Given the description of an element on the screen output the (x, y) to click on. 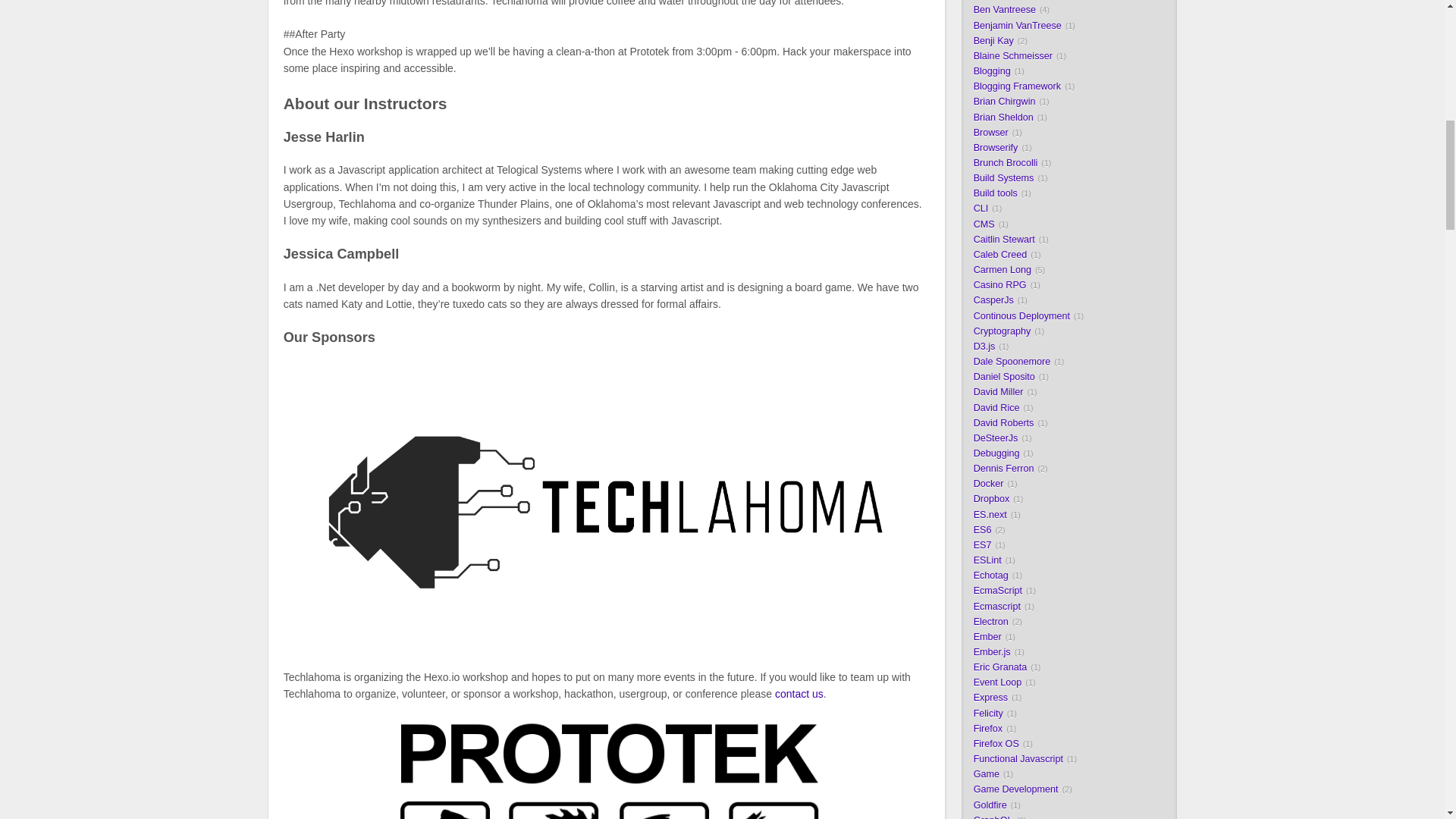
contact us (799, 693)
